Given the description of an element on the screen output the (x, y) to click on. 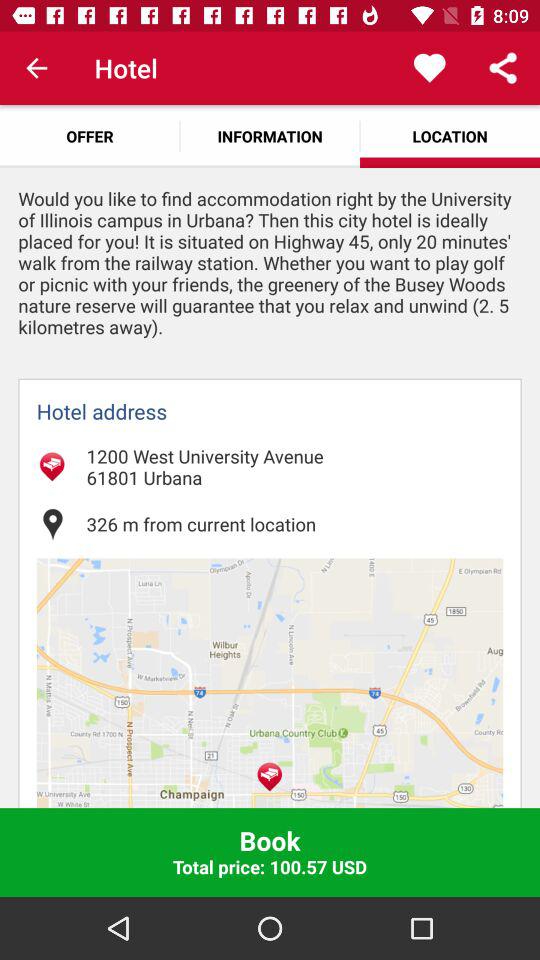
tap the offer app (90, 136)
